Given the description of an element on the screen output the (x, y) to click on. 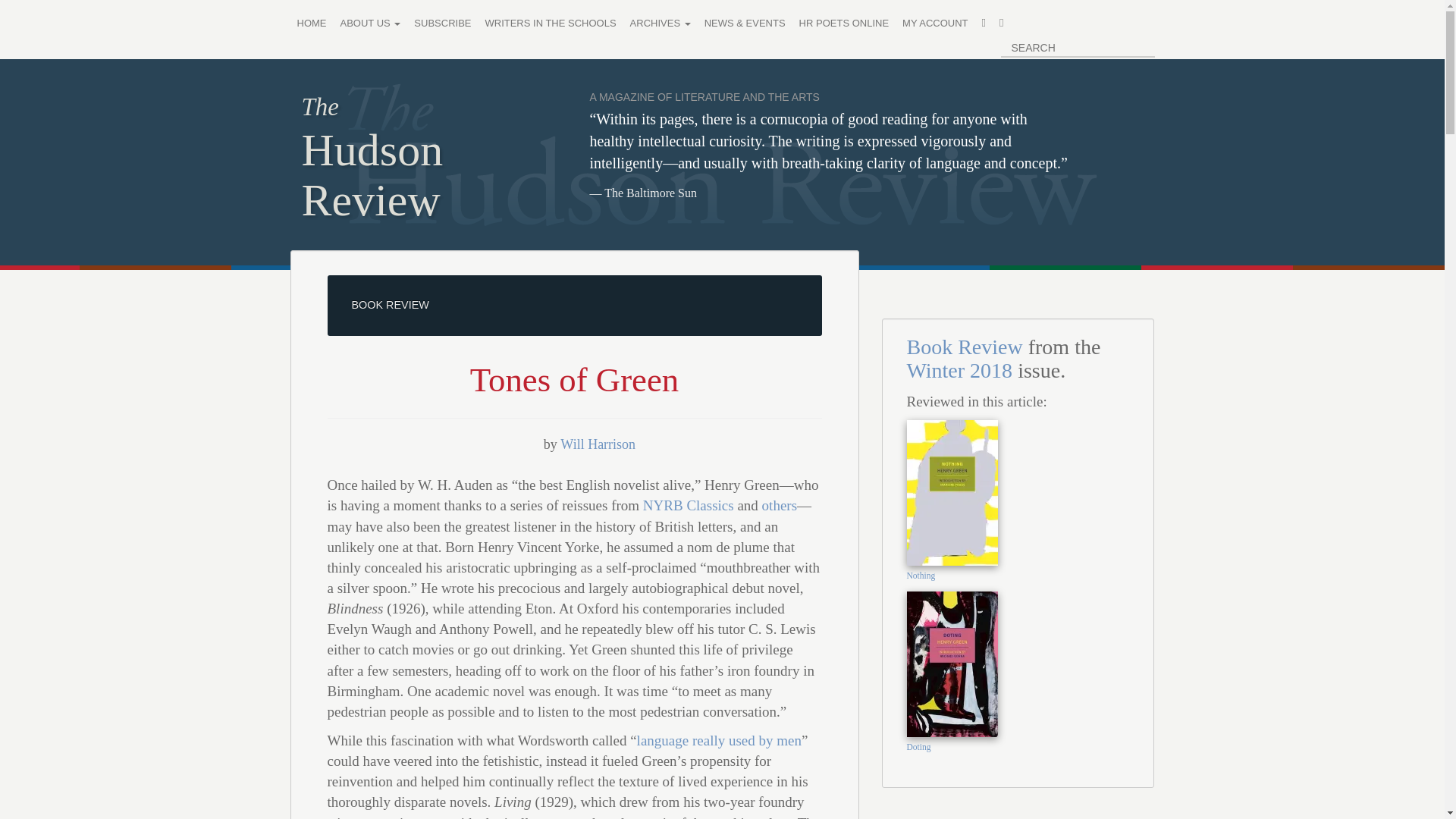
ABOUT US (370, 23)
SUBSCRIBE (442, 23)
HR POETS ONLINE (843, 23)
MY ACCOUNT (934, 23)
WRITERS IN THE SCHOOLS (550, 23)
ARCHIVES (660, 23)
HOME (311, 23)
BOOK REVIEW (390, 304)
Will Harrison (597, 444)
